Given the description of an element on the screen output the (x, y) to click on. 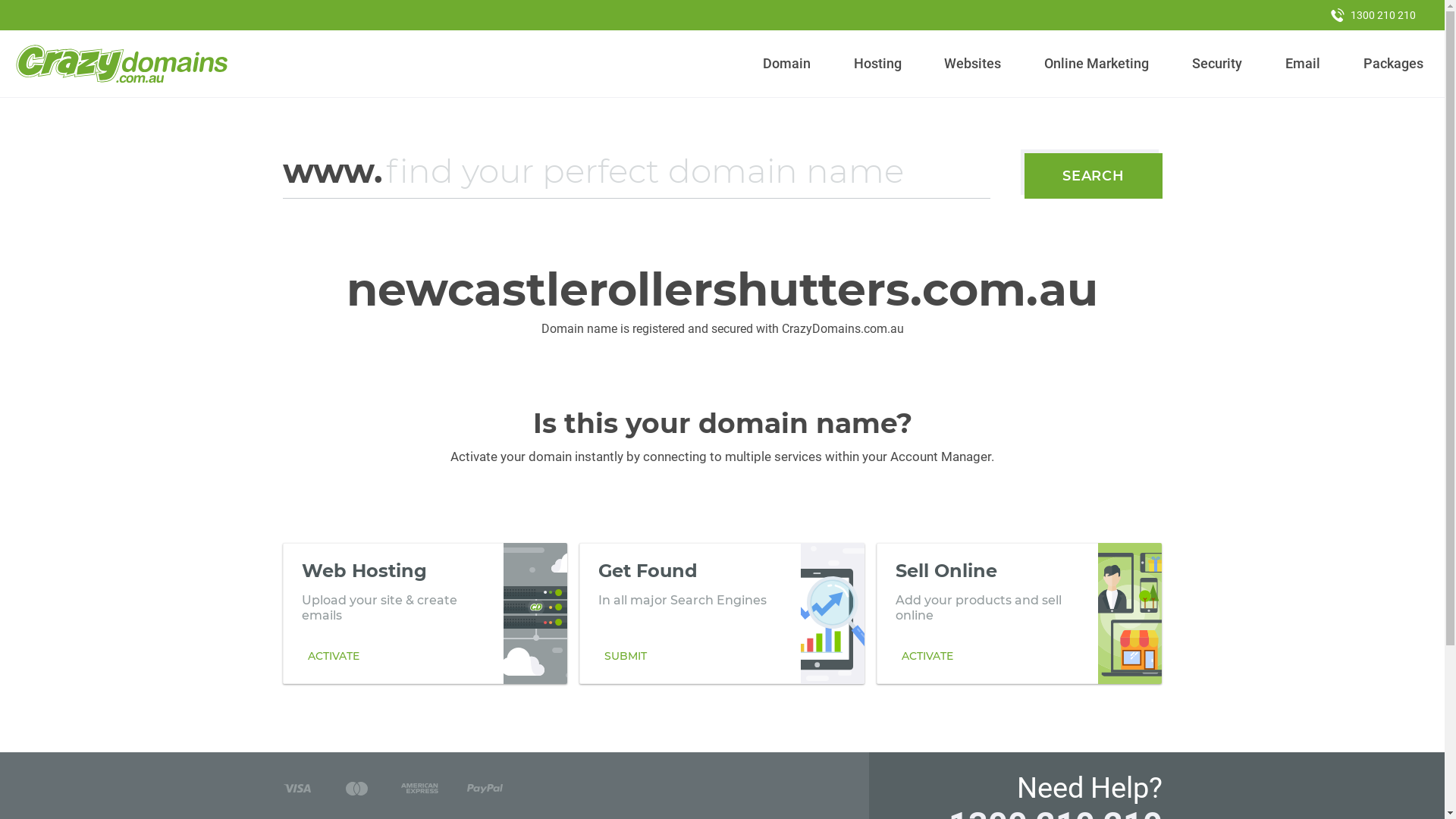
Email Element type: text (1302, 63)
Sell Online
Add your products and sell online
ACTIVATE Element type: text (1018, 613)
SEARCH Element type: text (1092, 175)
Online Marketing Element type: text (1096, 63)
1300 210 210 Element type: text (1373, 15)
Web Hosting
Upload your site & create emails
ACTIVATE Element type: text (424, 613)
Websites Element type: text (972, 63)
Get Found
In all major Search Engines
SUBMIT Element type: text (721, 613)
Hosting Element type: text (877, 63)
Security Element type: text (1217, 63)
Domain Element type: text (786, 63)
Packages Element type: text (1392, 63)
